Given the description of an element on the screen output the (x, y) to click on. 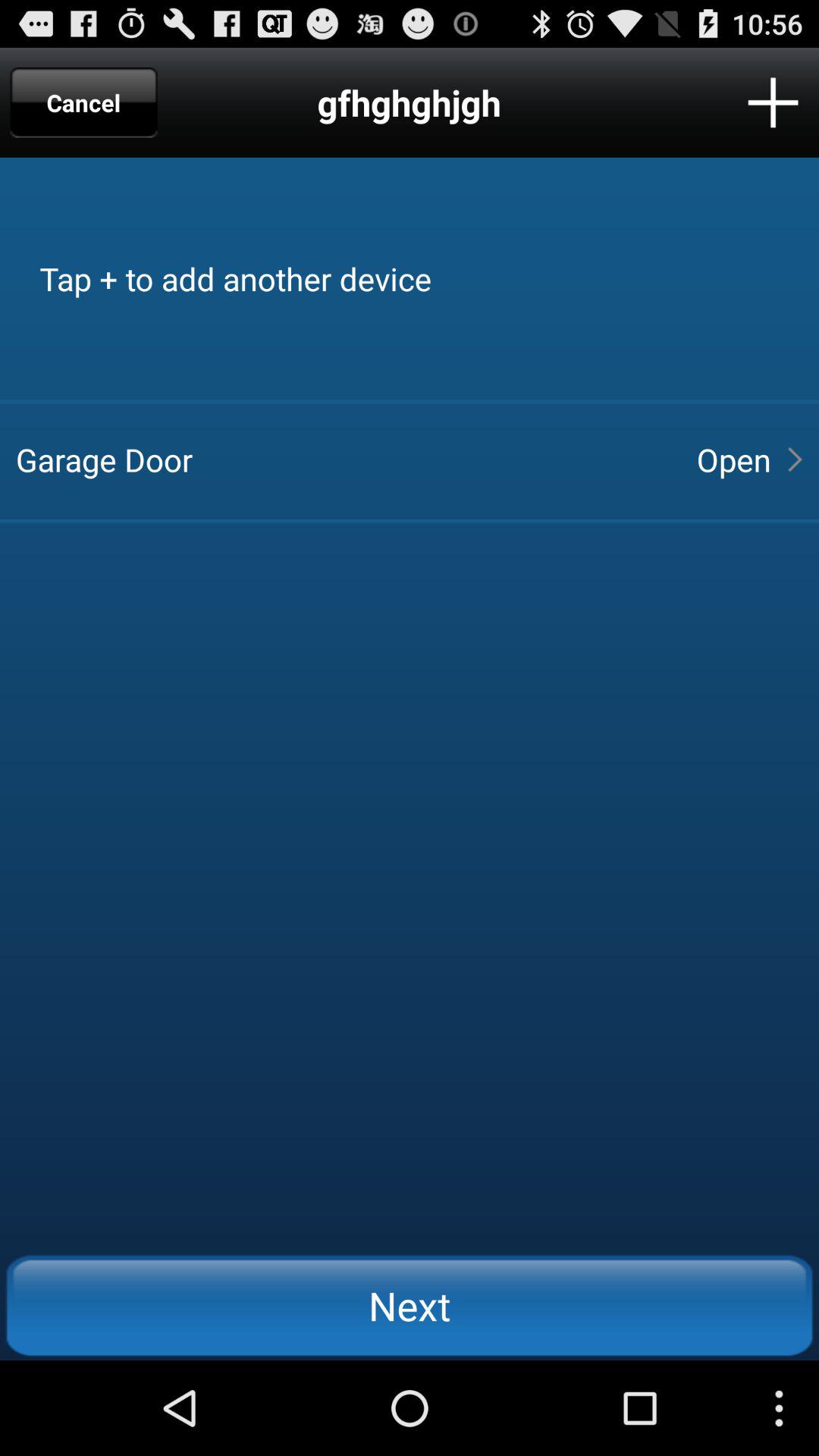
tap the item above tap to add (773, 102)
